Given the description of an element on the screen output the (x, y) to click on. 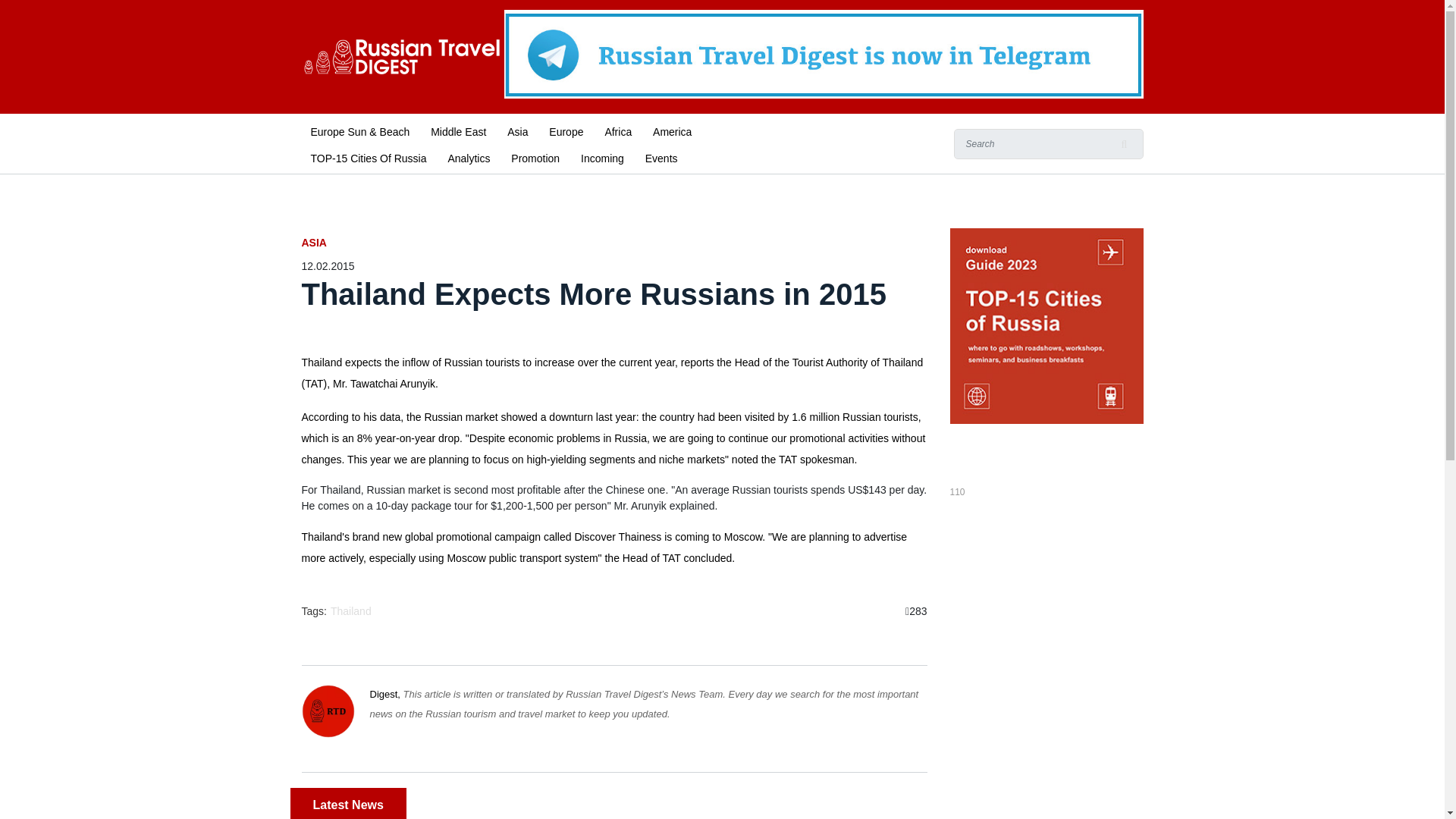
ASIA (614, 242)
Incoming (602, 157)
sisea.search (1123, 143)
Analytics (468, 157)
Events (661, 157)
TOP-15 Cities Of Russia (368, 157)
Promotion (535, 157)
Africa (617, 130)
Europe (566, 130)
Thailand (352, 611)
America (671, 130)
Middle East (458, 130)
Asia (517, 130)
